Given the description of an element on the screen output the (x, y) to click on. 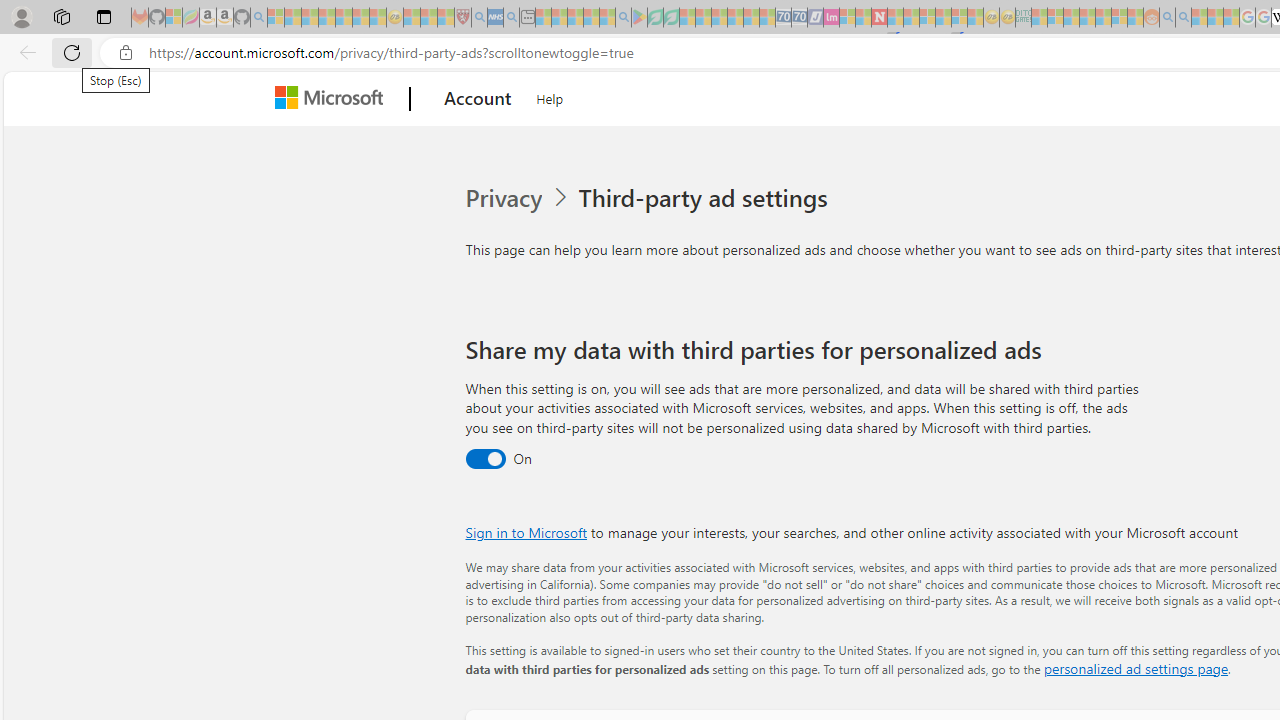
MSNBC - MSN - Sleeping (1039, 17)
DITOGAMES AG Imprint - Sleeping (1023, 17)
list of asthma inhalers uk - Search - Sleeping (479, 17)
Privacy (519, 197)
Third party data sharing toggle (484, 459)
Privacy (505, 197)
utah sues federal government - Search - Sleeping (511, 17)
Robert H. Shmerling, MD - Harvard Health - Sleeping (462, 17)
Recipes - MSN - Sleeping (411, 17)
Latest Politics News & Archive | Newsweek.com - Sleeping (879, 17)
